Given the description of an element on the screen output the (x, y) to click on. 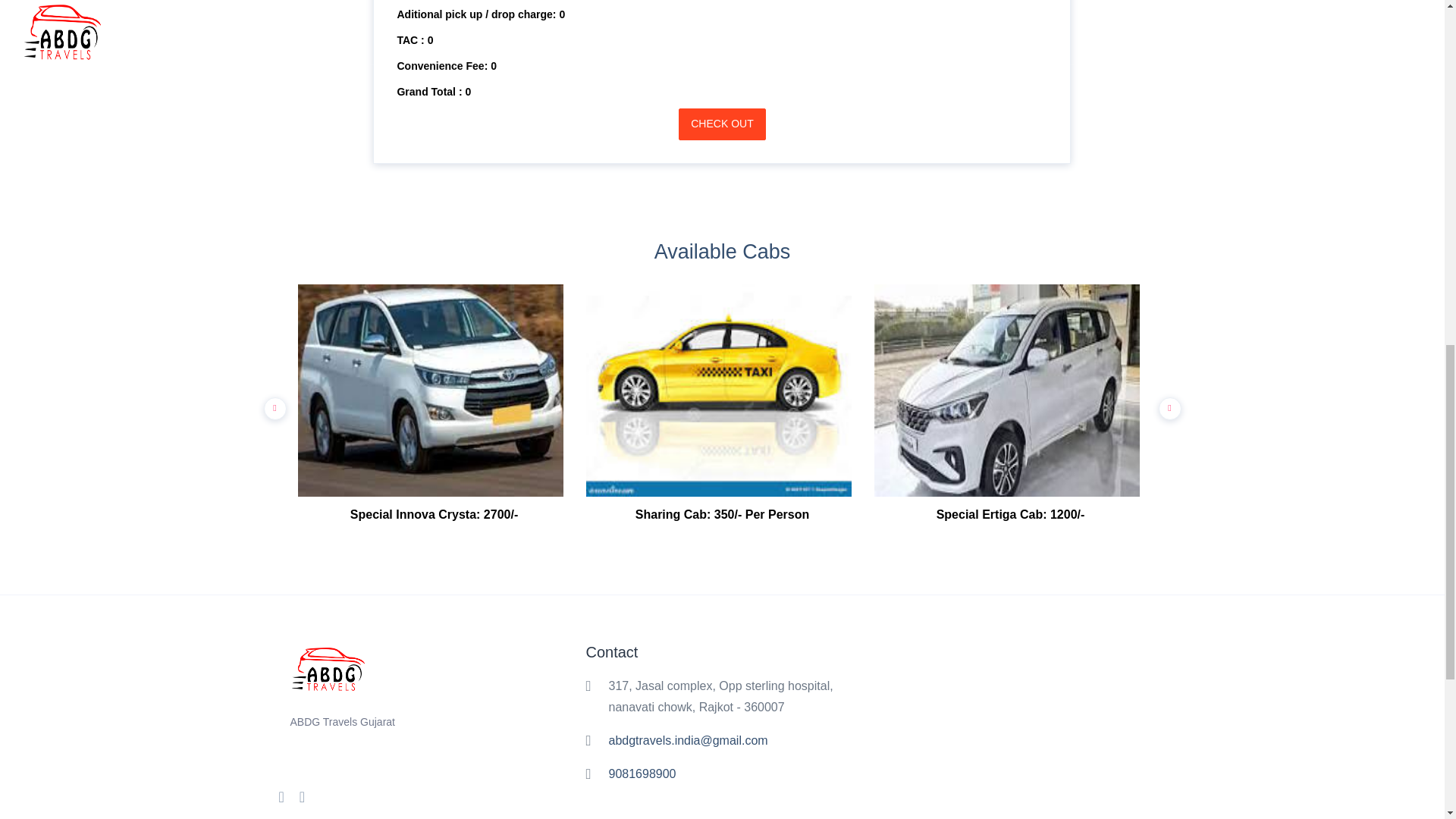
Check Out (721, 124)
Submit Listing (721, 124)
Check Out (721, 124)
9081698900 (641, 773)
Previous (271, 404)
Next (1165, 404)
